Given the description of an element on the screen output the (x, y) to click on. 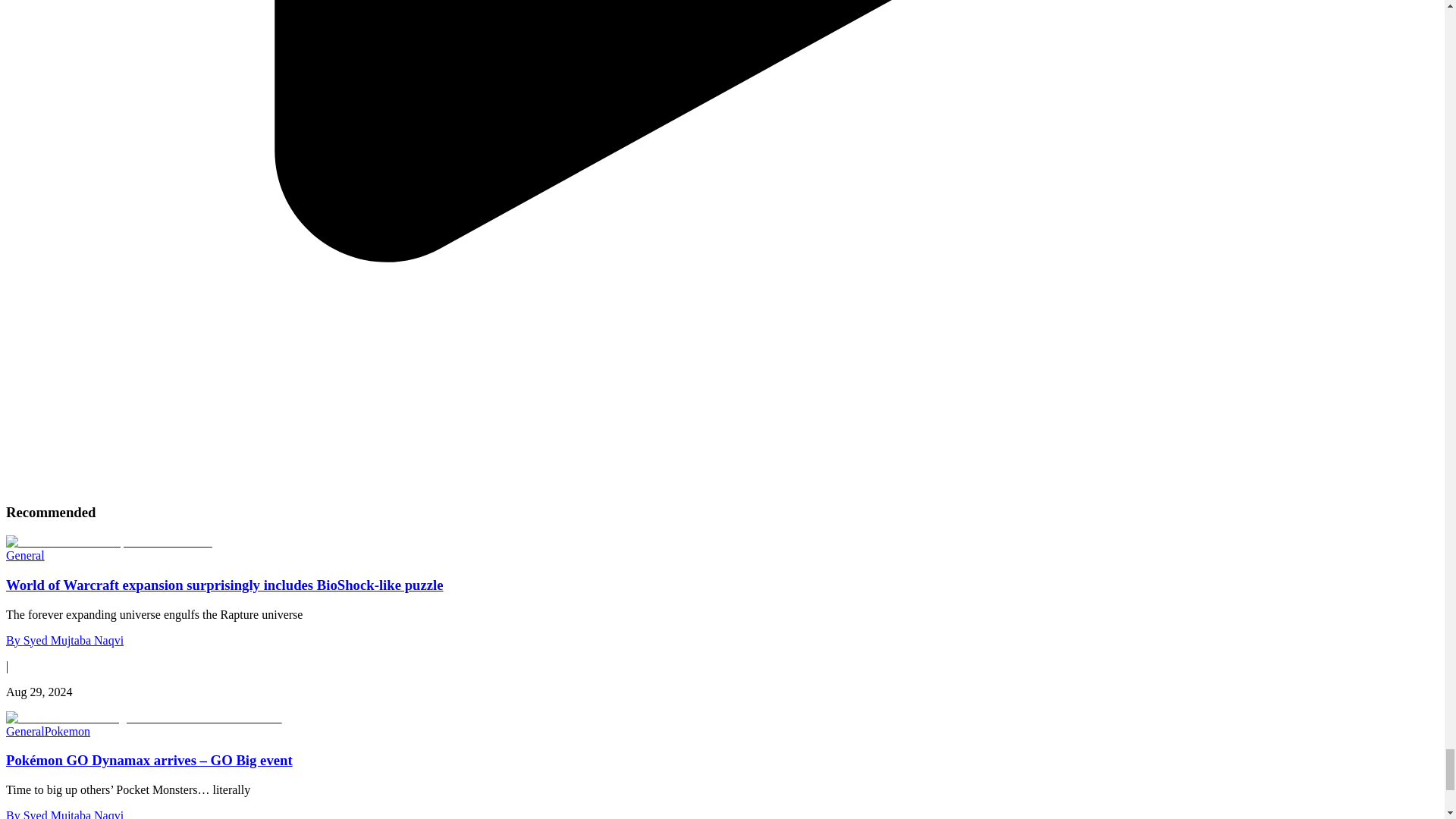
General (25, 730)
General (25, 554)
By Syed Mujtaba Naqvi (64, 640)
Pokemon (67, 730)
By Syed Mujtaba Naqvi (64, 814)
